Given the description of an element on the screen output the (x, y) to click on. 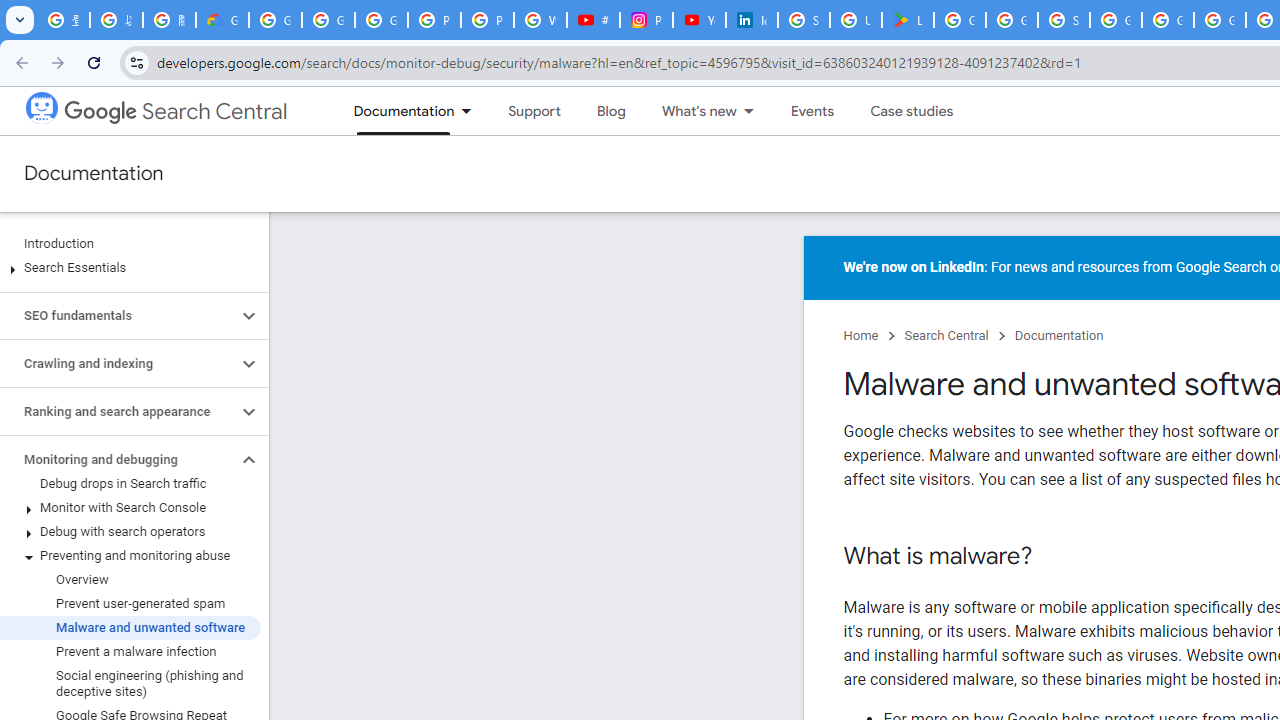
YouTube Culture & Trends - On The Rise: Handcam Videos (699, 20)
Copy link to this section: What is malware? (1051, 557)
What's new (689, 111)
Introduction (130, 243)
Ranking and search appearance (118, 412)
Google (101, 111)
Google Search Central (41, 106)
Search Essentials (130, 268)
Preventing and monitoring abuse (130, 556)
